Given the description of an element on the screen output the (x, y) to click on. 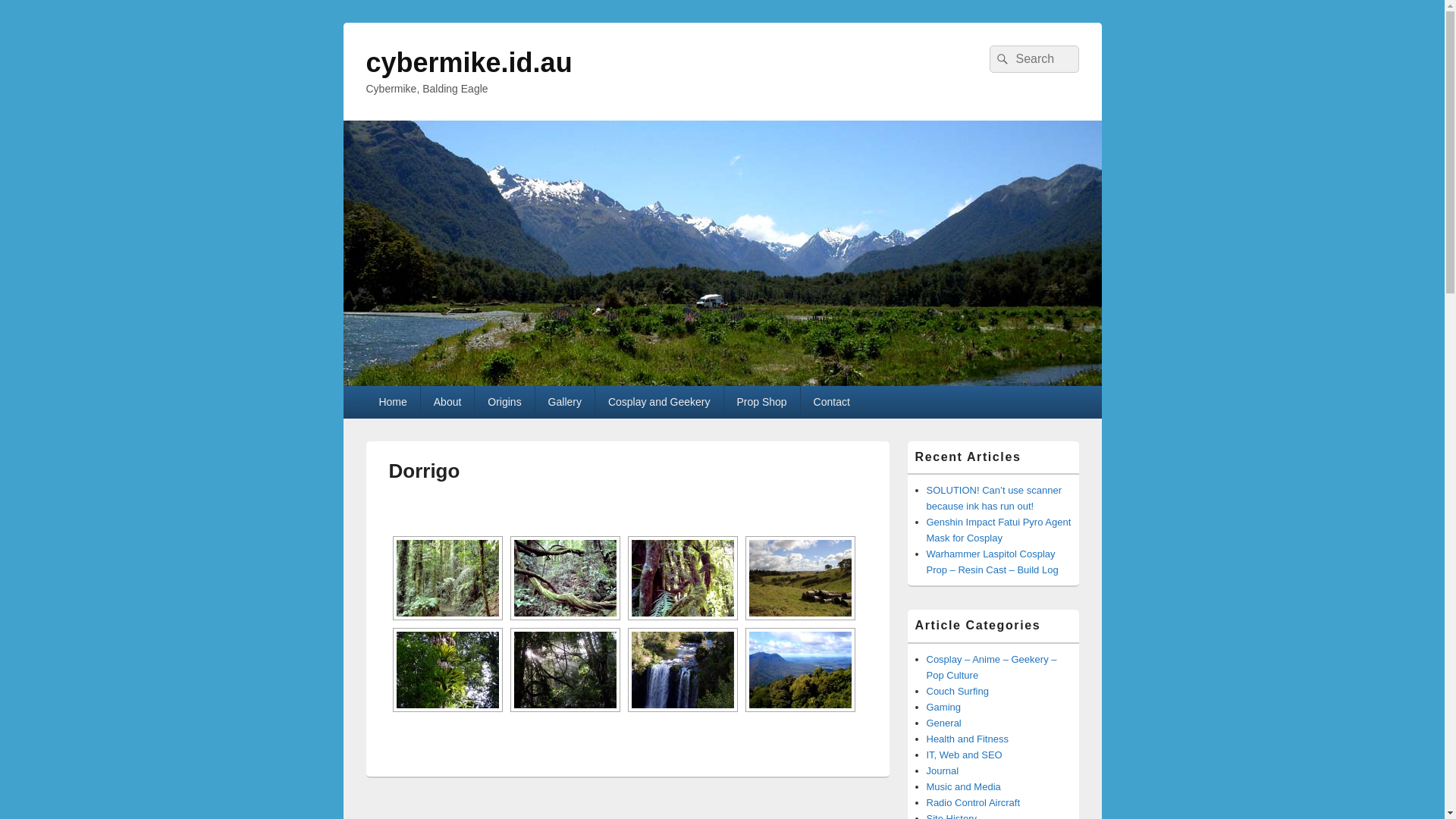
Dorrigo National Park Element type: hover (446, 577)
Cosplay and Geekery Element type: text (659, 401)
dorrigo-march-2009-71 Element type: hover (681, 669)
General Element type: text (943, 722)
dorrigo-08-07-19 Element type: hover (800, 577)
Search Element type: text (999, 58)
dorrigo-08-07-15 Element type: hover (681, 577)
dorrigo_aug_07_106 Element type: hover (800, 669)
Couch Surfing Element type: text (957, 690)
Journal Element type: text (942, 770)
Gallery Element type: text (564, 401)
cybermike.id.au Element type: hover (721, 381)
Health and Fitness Element type: text (967, 738)
Genshin Impact Fatui Pyro Agent Mask for Cosplay Element type: text (998, 529)
Contact Element type: text (831, 401)
IT, Web and SEO Element type: text (964, 754)
Home Element type: text (392, 401)
cybermike.id.au Element type: text (468, 62)
Gaming Element type: text (943, 706)
Origins Element type: text (503, 401)
Radio Control Aircraft Element type: text (973, 802)
dorrigo-march-2009-38 Element type: hover (565, 669)
Prop Shop Element type: text (761, 401)
About Element type: text (447, 401)
Search for: Element type: hover (1033, 58)
Dorrigo National Park Element type: hover (565, 577)
Music and Media Element type: text (963, 786)
dorrigo-march-2009-32 Element type: hover (446, 669)
